Given the description of an element on the screen output the (x, y) to click on. 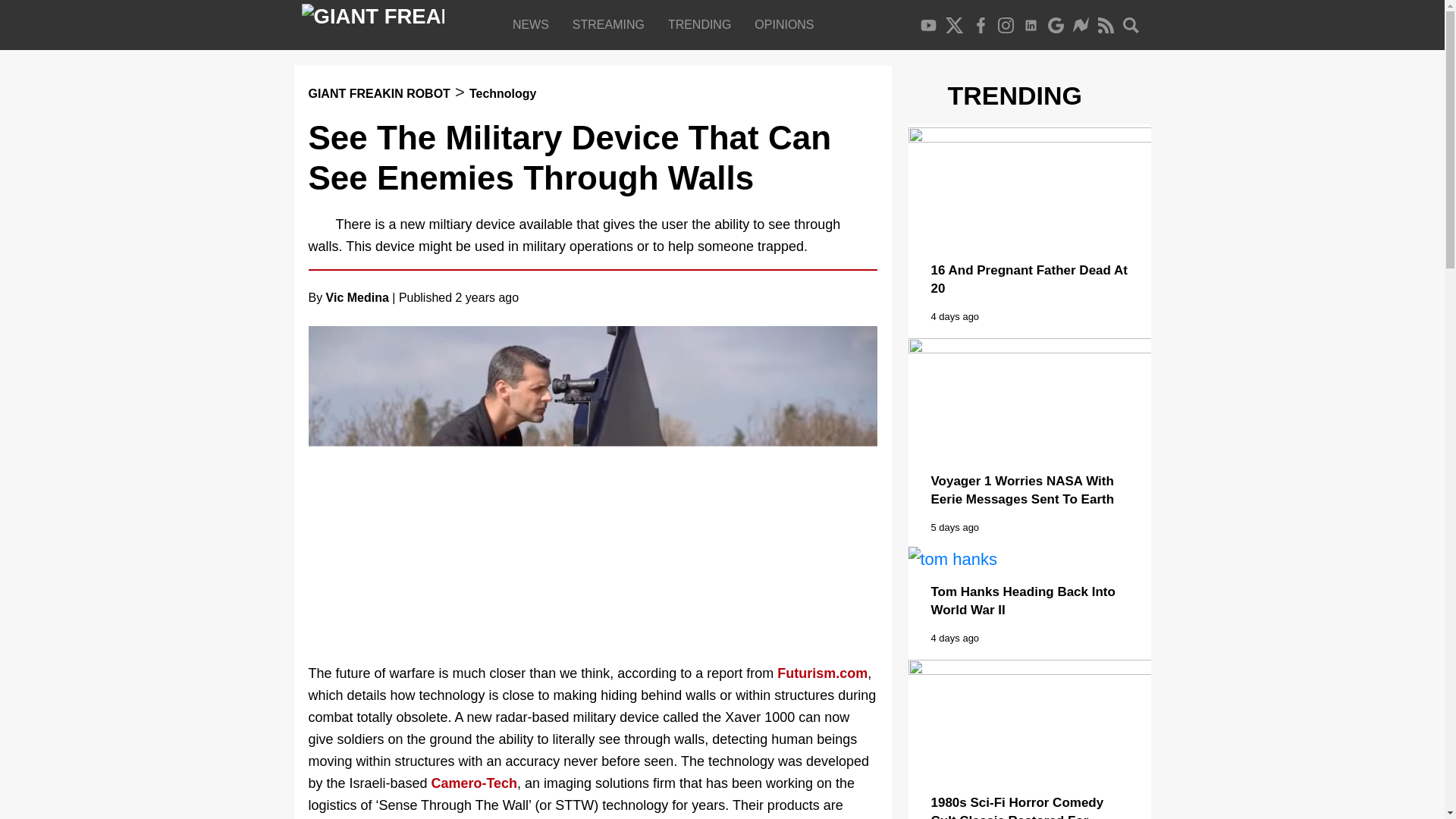
STREAMING (611, 24)
GIANT FREAKIN ROBOT (378, 92)
See The Military Device That Can See Enemies Through Walls (569, 157)
Streaming (611, 24)
Vic Medina (357, 297)
Entertainment News (533, 24)
NEWS (533, 24)
TRENDING (702, 24)
OPINIONS (786, 24)
Trending (702, 24)
Technology (502, 92)
